Given the description of an element on the screen output the (x, y) to click on. 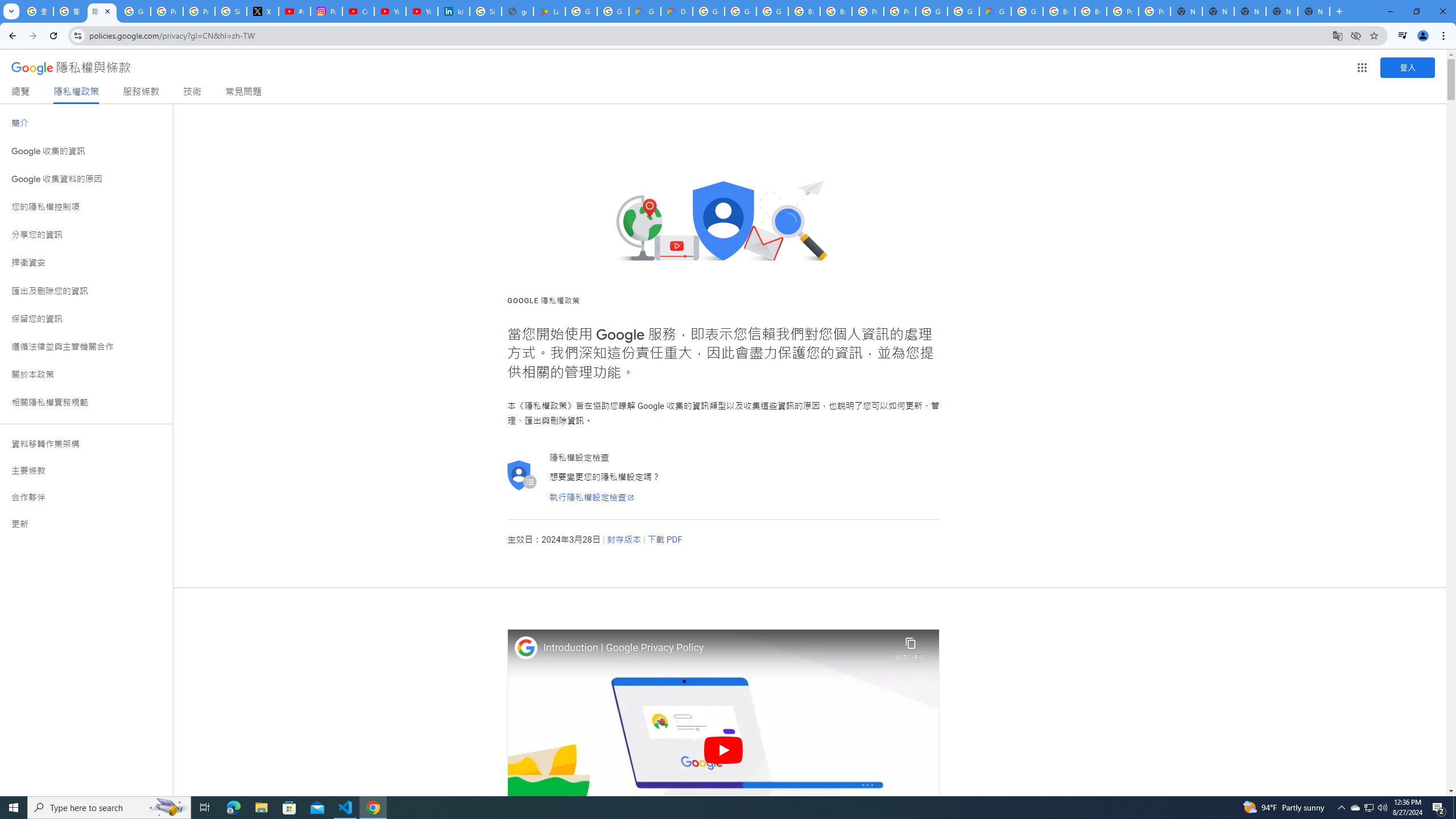
Privacy Help Center - Policies Help (166, 11)
